Given the description of an element on the screen output the (x, y) to click on. 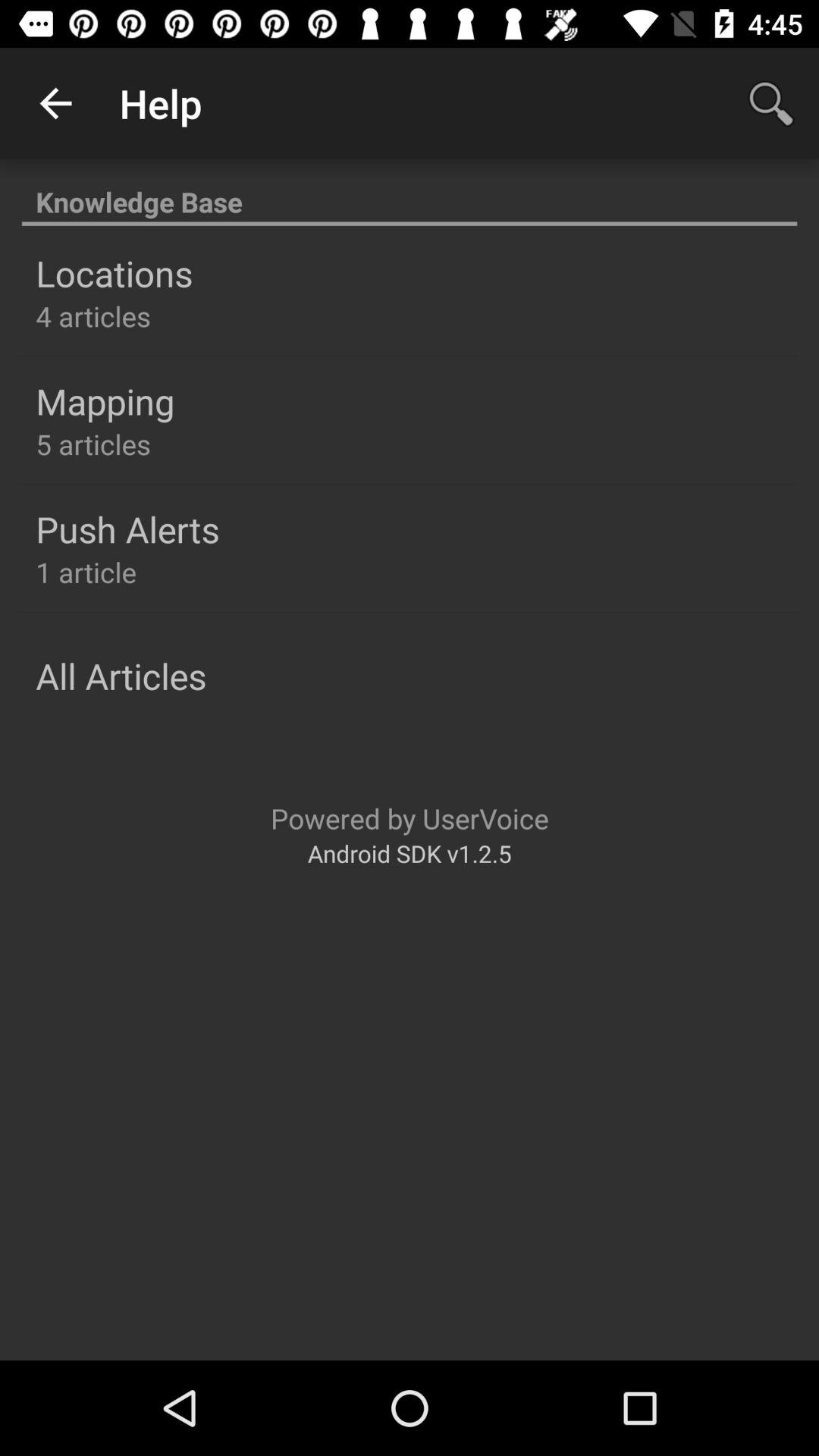
choose icon to the left of the help app (55, 103)
